Given the description of an element on the screen output the (x, y) to click on. 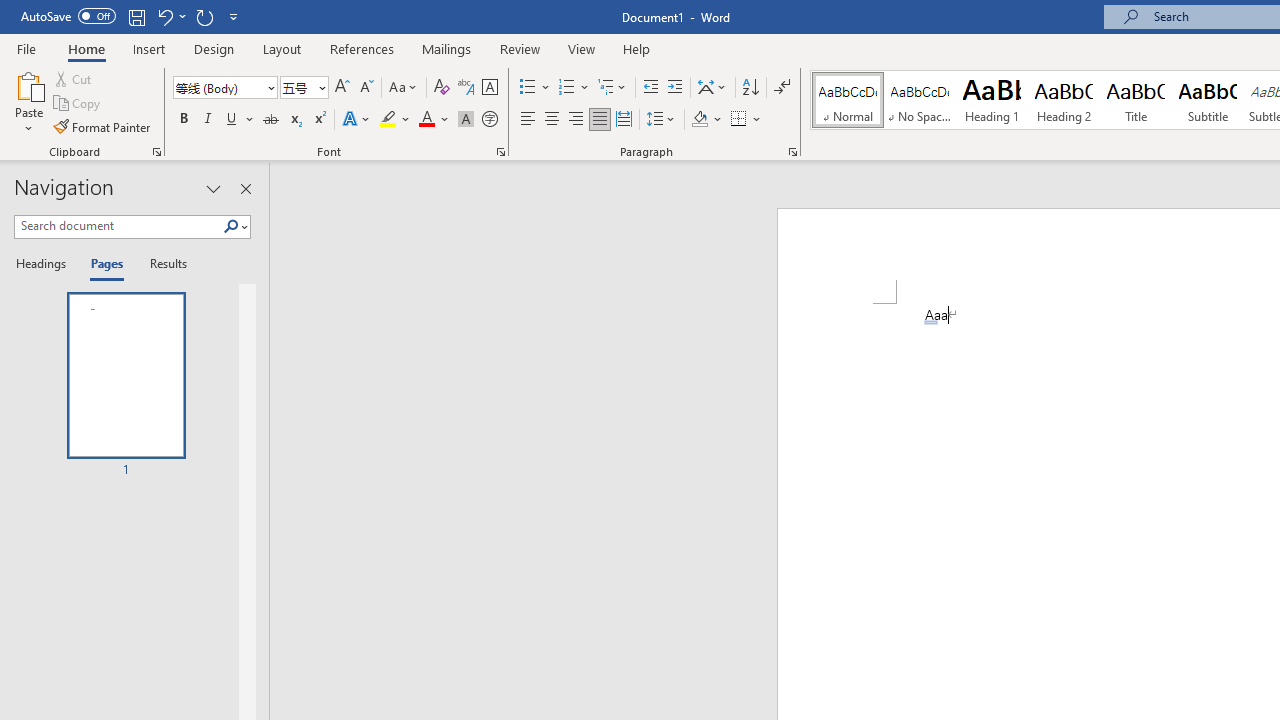
Shrink Font (365, 87)
Cut (73, 78)
Save (136, 15)
Show/Hide Editing Marks (781, 87)
Search (231, 227)
Clear Formatting (442, 87)
Borders (746, 119)
Character Shading (465, 119)
Office Clipboard... (156, 151)
Help (637, 48)
Font Color (434, 119)
Close pane (246, 188)
Strikethrough (270, 119)
Superscript (319, 119)
AutoSave (68, 16)
